Given the description of an element on the screen output the (x, y) to click on. 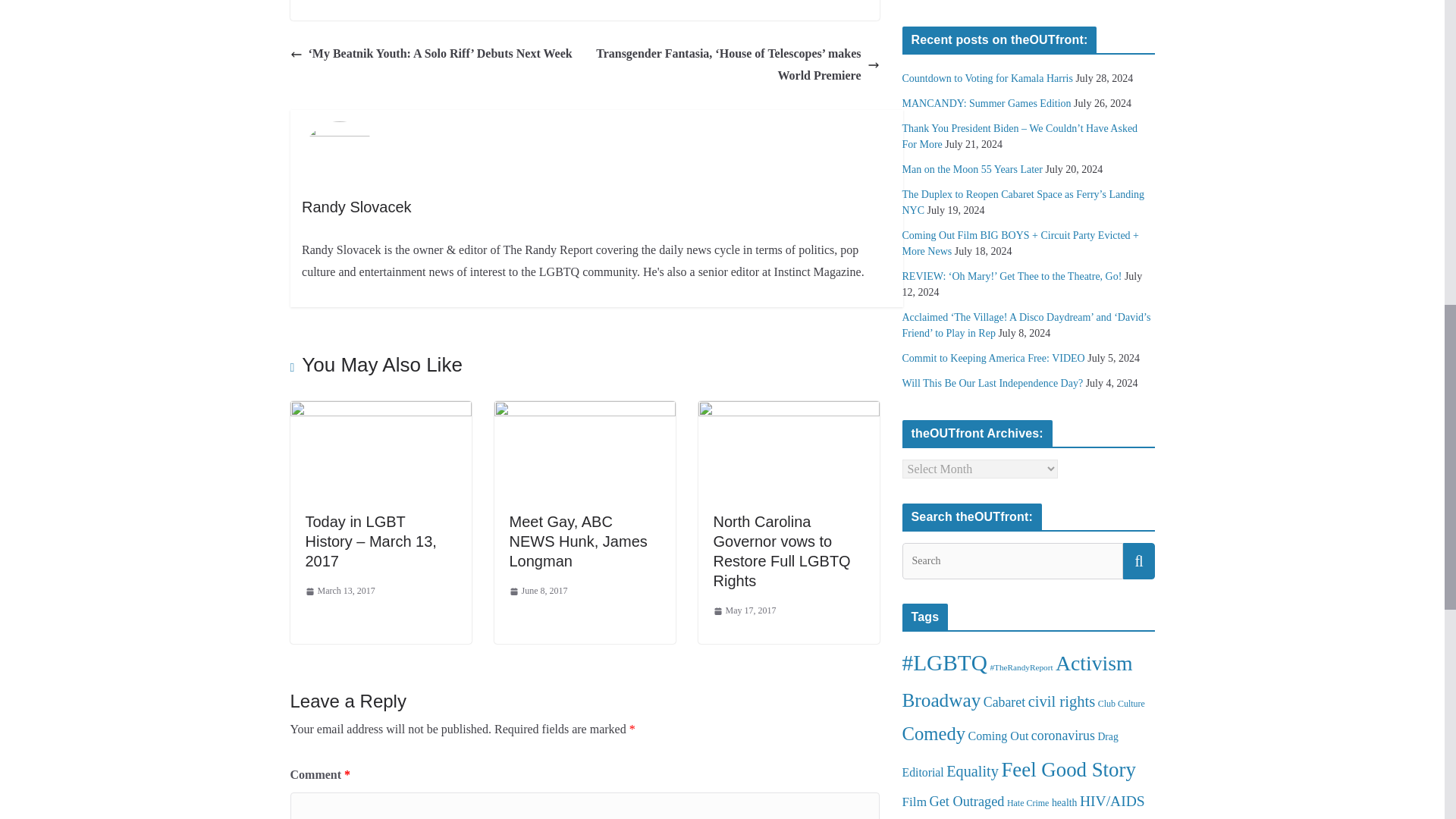
June 8, 2017 (538, 591)
North Carolina Governor vows to Restore Full LGBTQ Rights (781, 550)
March 13, 2017 (339, 591)
Meet Gay, ABC NEWS Hunk, James Longman (578, 541)
May 17, 2017 (744, 610)
